Given the description of an element on the screen output the (x, y) to click on. 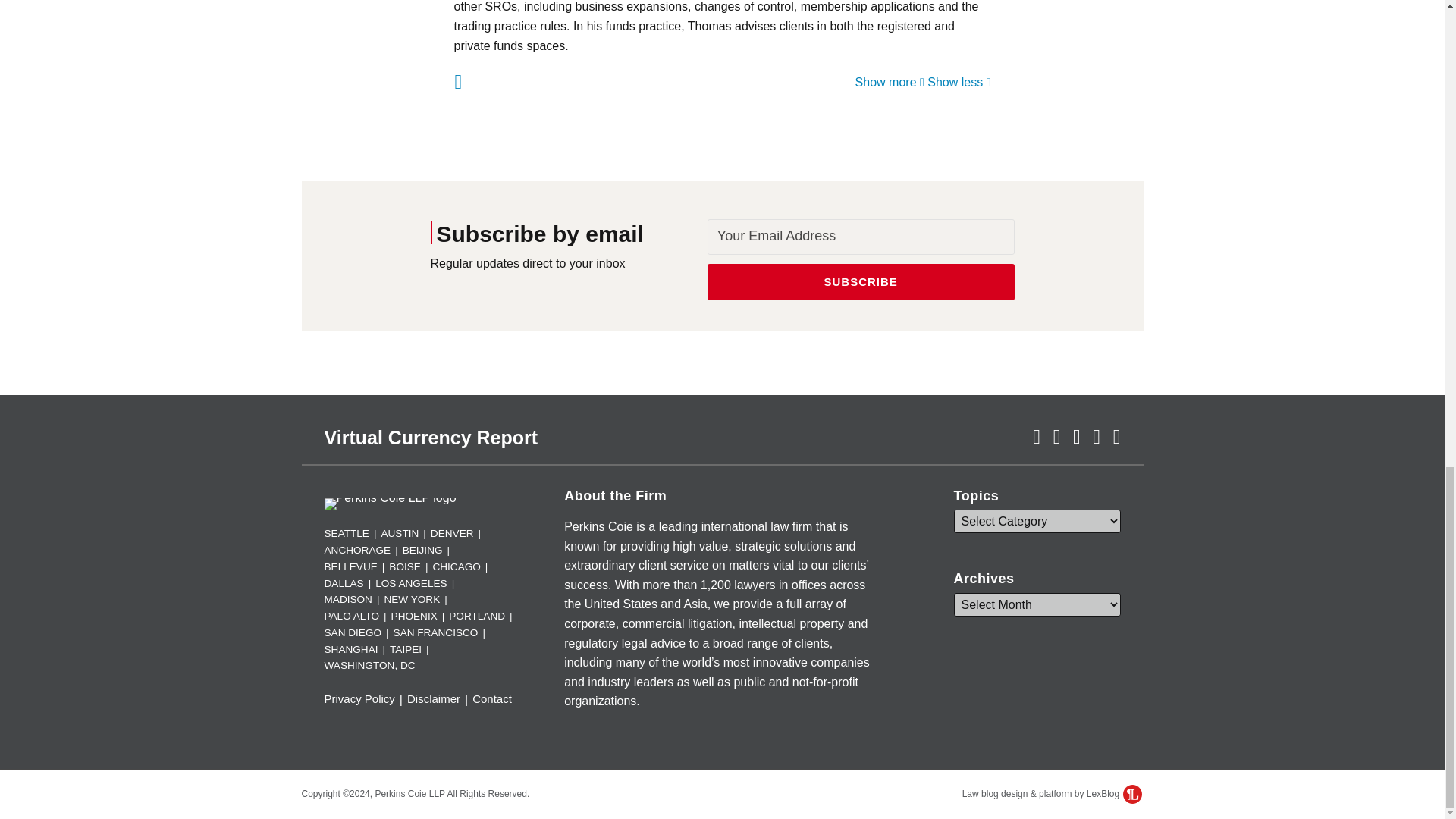
Subscribe (860, 281)
Show less (958, 82)
Show more (890, 82)
LexBlog Logo (1131, 793)
Virtual Currency Report (431, 436)
Subscribe (860, 281)
